Given the description of an element on the screen output the (x, y) to click on. 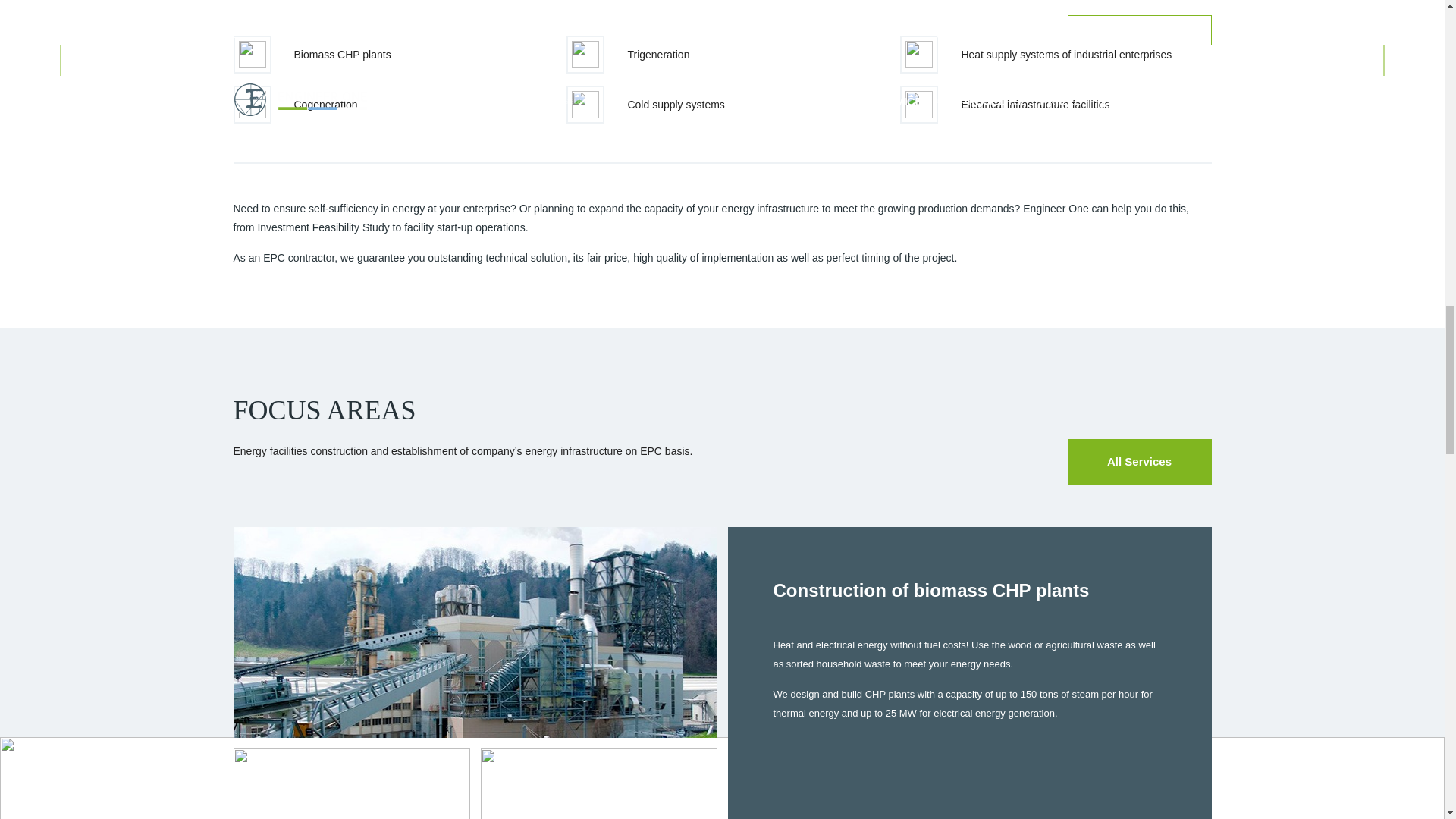
Electrical infrastructure facilities (1034, 104)
Heat supply systems of industrial enterprises (1066, 54)
Biomass CHP plants (342, 54)
All Services (1139, 461)
Construction of biomass CHP plants (931, 589)
Cogeneration (326, 104)
